Given the description of an element on the screen output the (x, y) to click on. 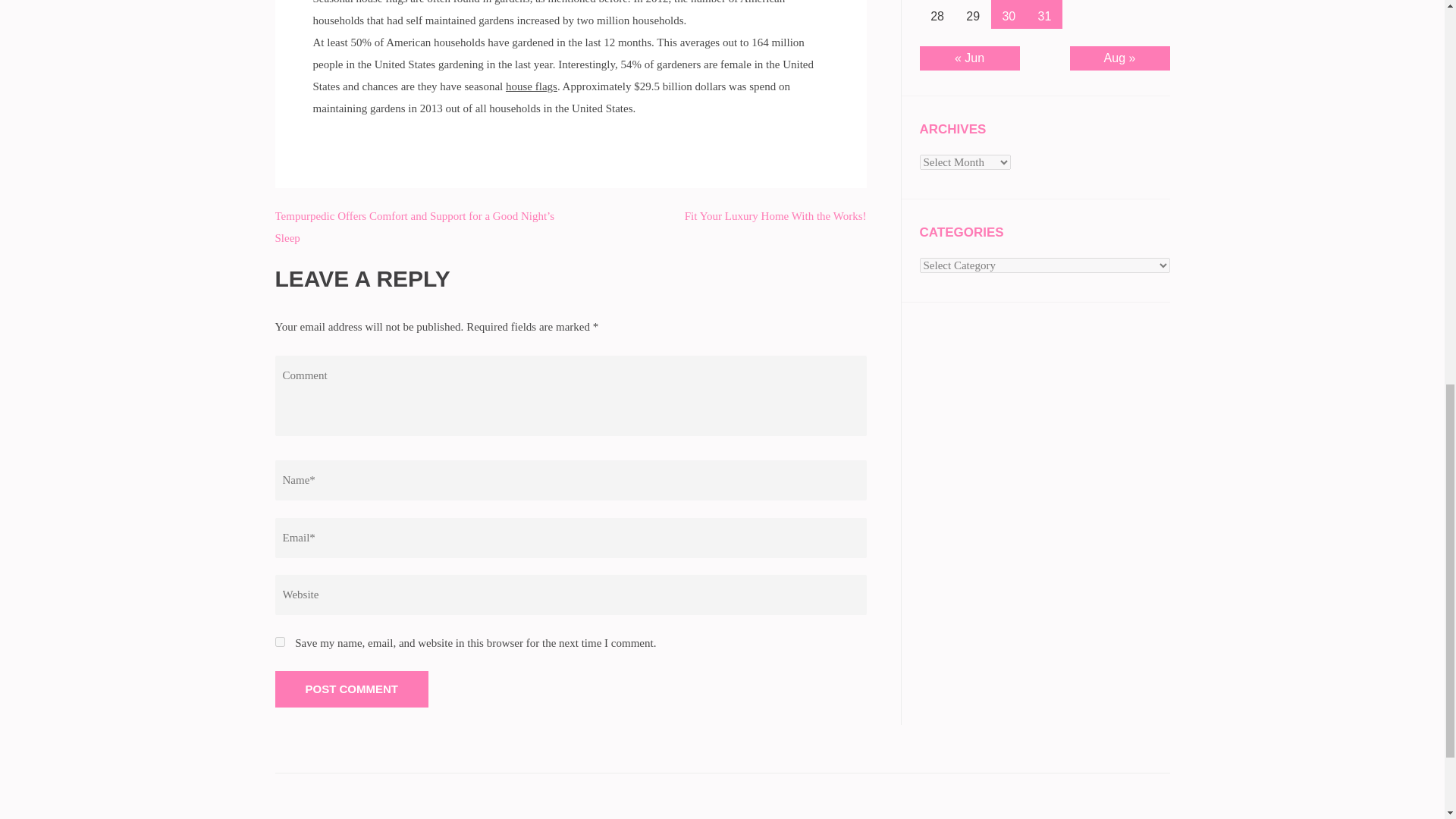
Post Comment (351, 688)
More information regarding Wedding garden flags (531, 86)
Fit Your Luxury Home With the Works! (775, 215)
house flags (531, 86)
Post Comment (351, 688)
yes (279, 642)
